Given the description of an element on the screen output the (x, y) to click on. 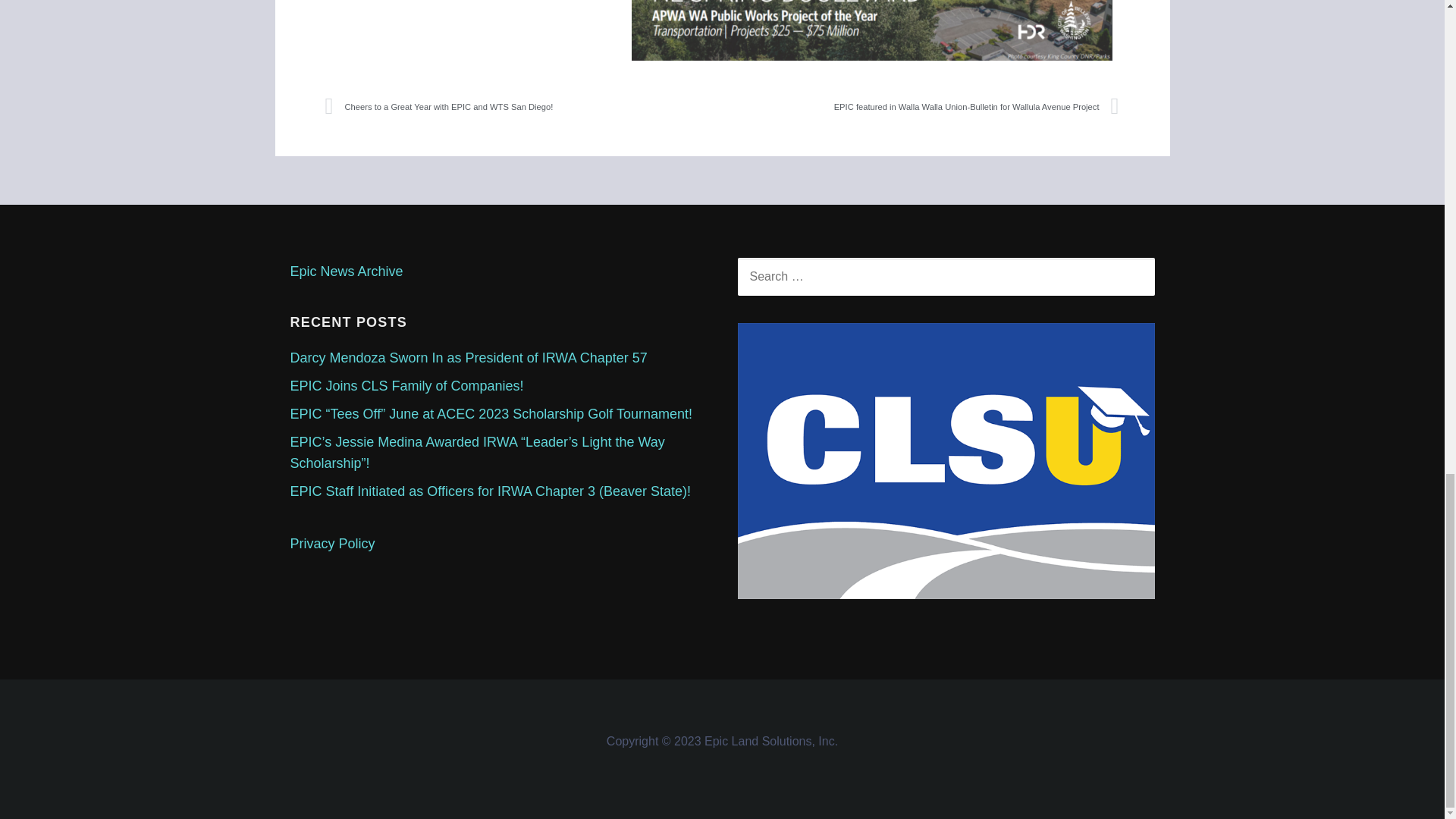
Darcy Mendoza Sworn In as President of IRWA Chapter 57 (467, 357)
Privacy Policy (331, 543)
EPIC Joins CLS Family of Companies! (405, 385)
Epic News Archive (346, 271)
Cheers to a Great Year with EPIC and WTS San Diego! (523, 106)
